Given the description of an element on the screen output the (x, y) to click on. 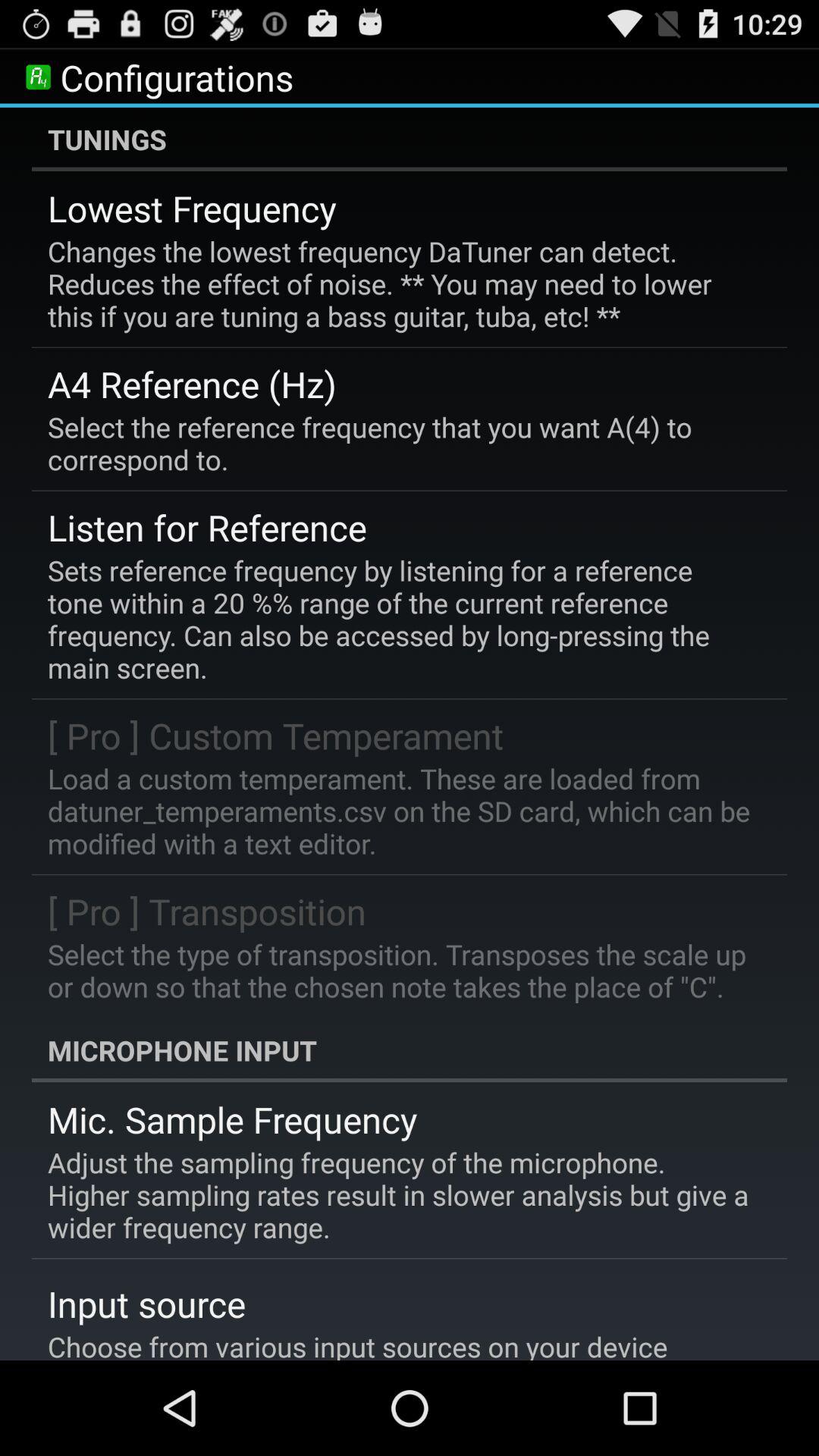
launch app below the adjust the sampling item (146, 1303)
